Given the description of an element on the screen output the (x, y) to click on. 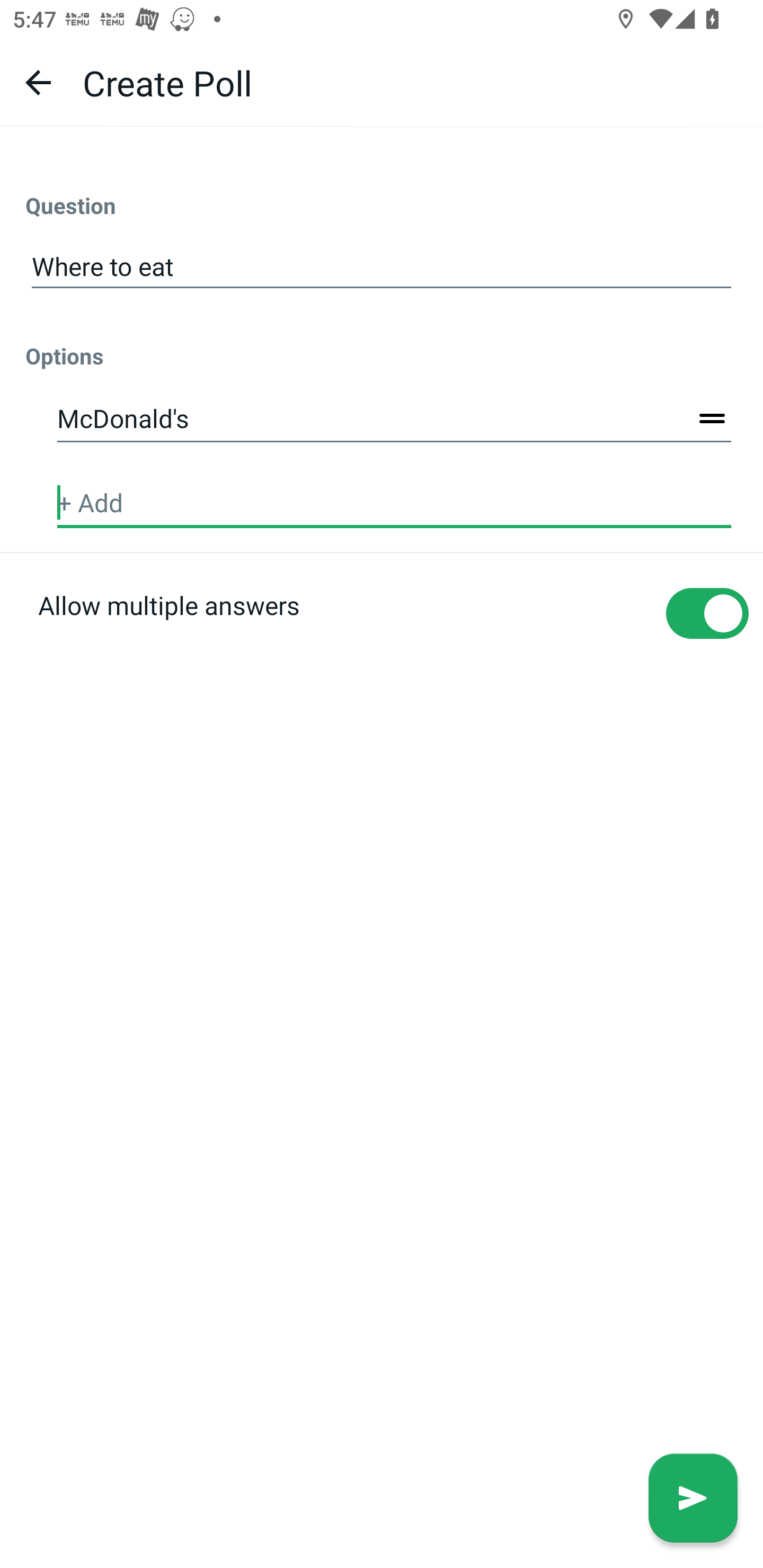
Navigate up (38, 82)
Where to eat (381, 267)
McDonald's (394, 419)
+ Add (394, 503)
Allow multiple answers (381, 644)
Send (692, 1497)
